Given the description of an element on the screen output the (x, y) to click on. 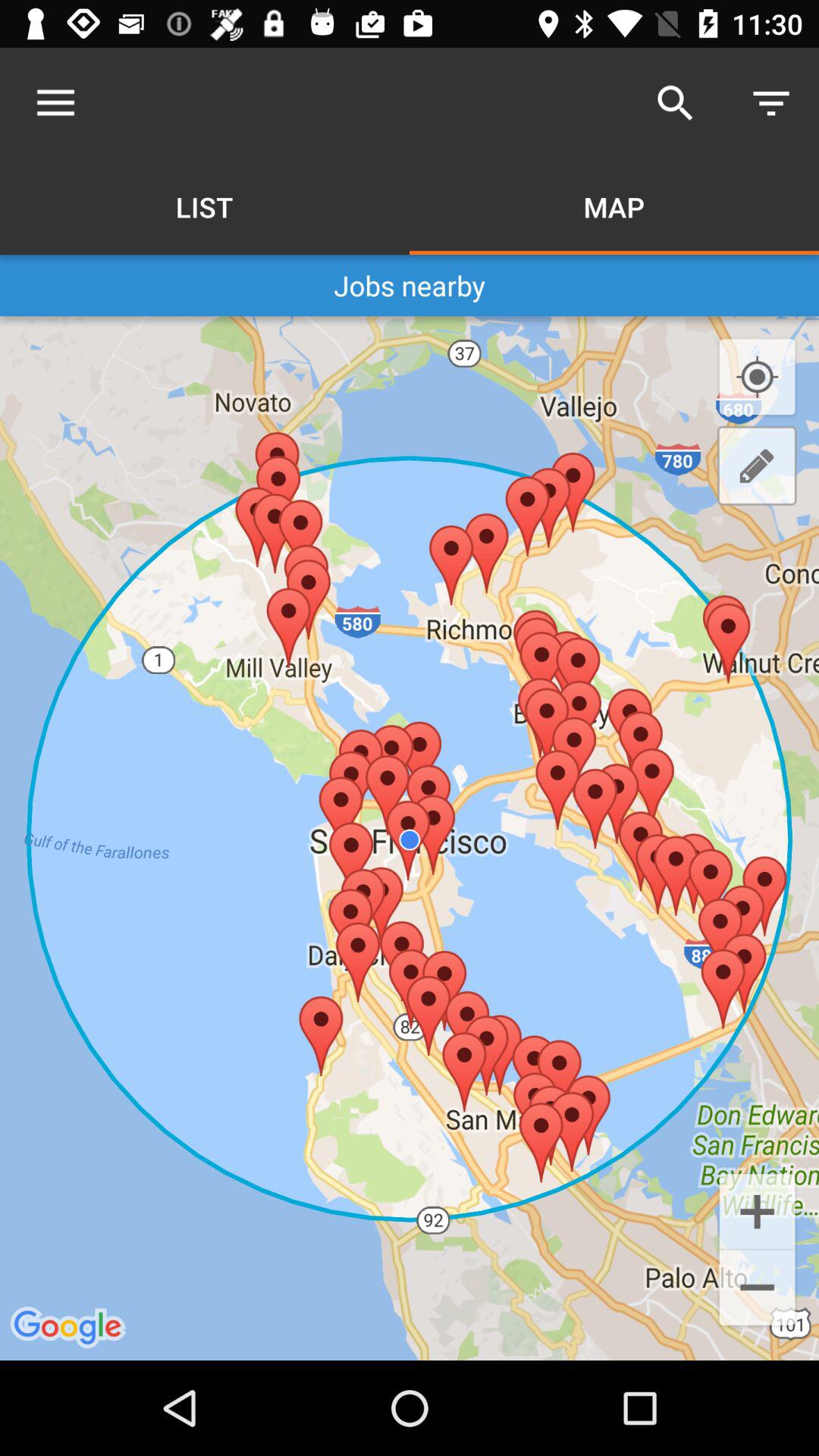
choose item at the center (409, 838)
